Given the description of an element on the screen output the (x, y) to click on. 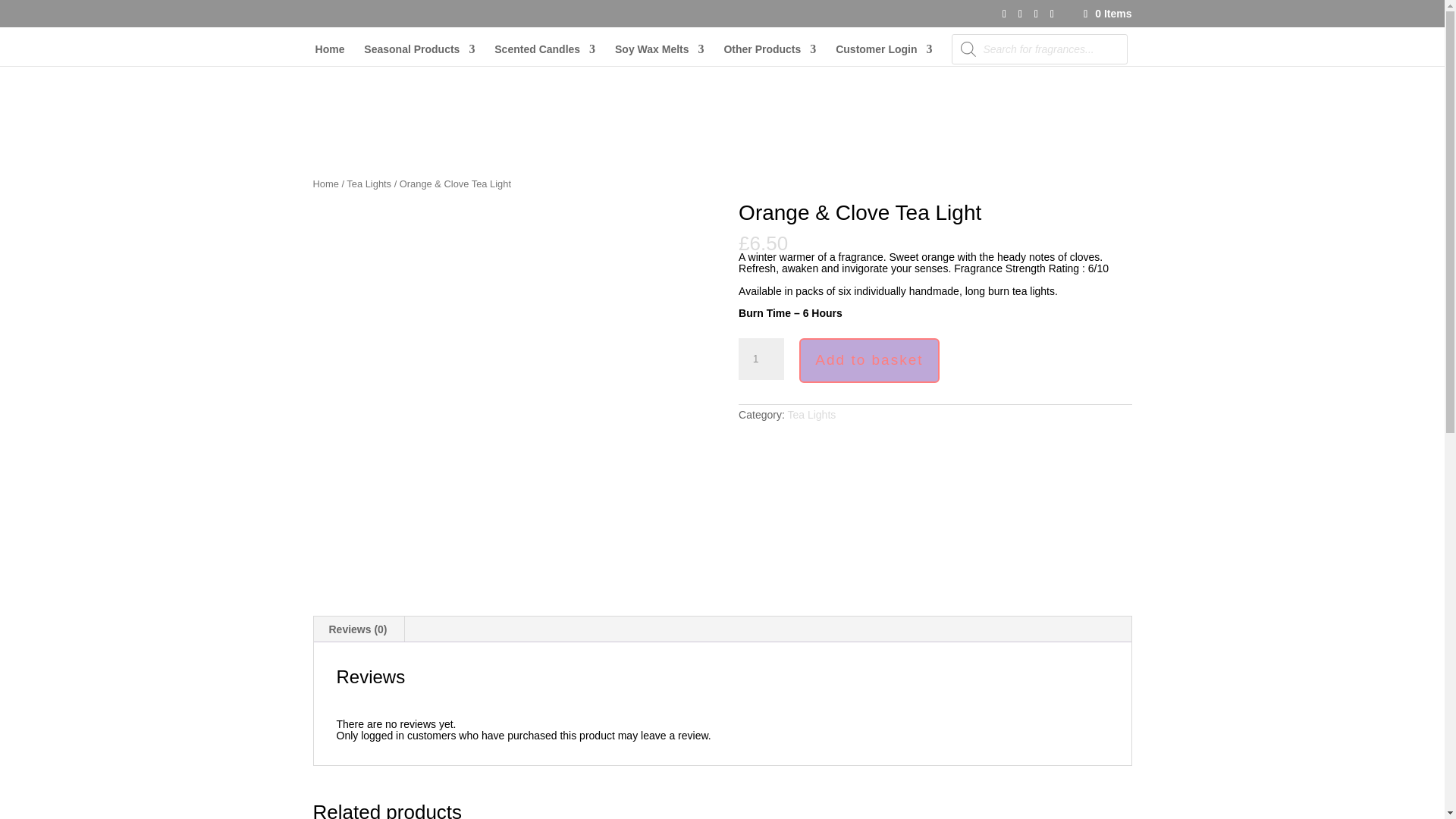
Soy Wax Melts (659, 55)
Customer Login (883, 55)
1 (761, 359)
Home (325, 183)
Other Products (769, 55)
Seasonal Products (419, 55)
Home (330, 55)
0 Items (1105, 13)
Tea Lights (368, 183)
Tea Lights (811, 414)
Scented Candles (545, 55)
Add to basket (869, 361)
